Given the description of an element on the screen output the (x, y) to click on. 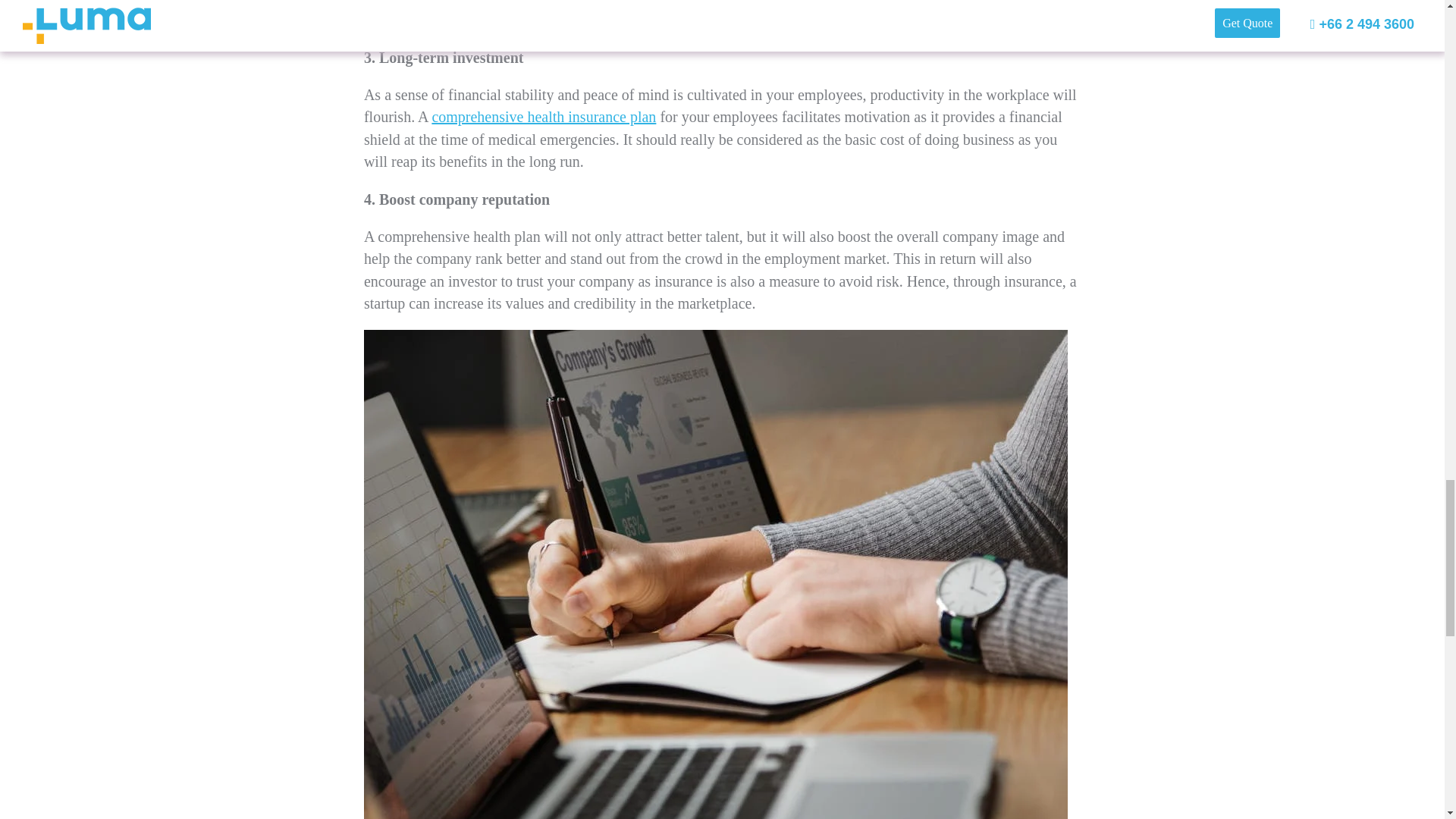
comprehensive health insurance plan (543, 116)
